Given the description of an element on the screen output the (x, y) to click on. 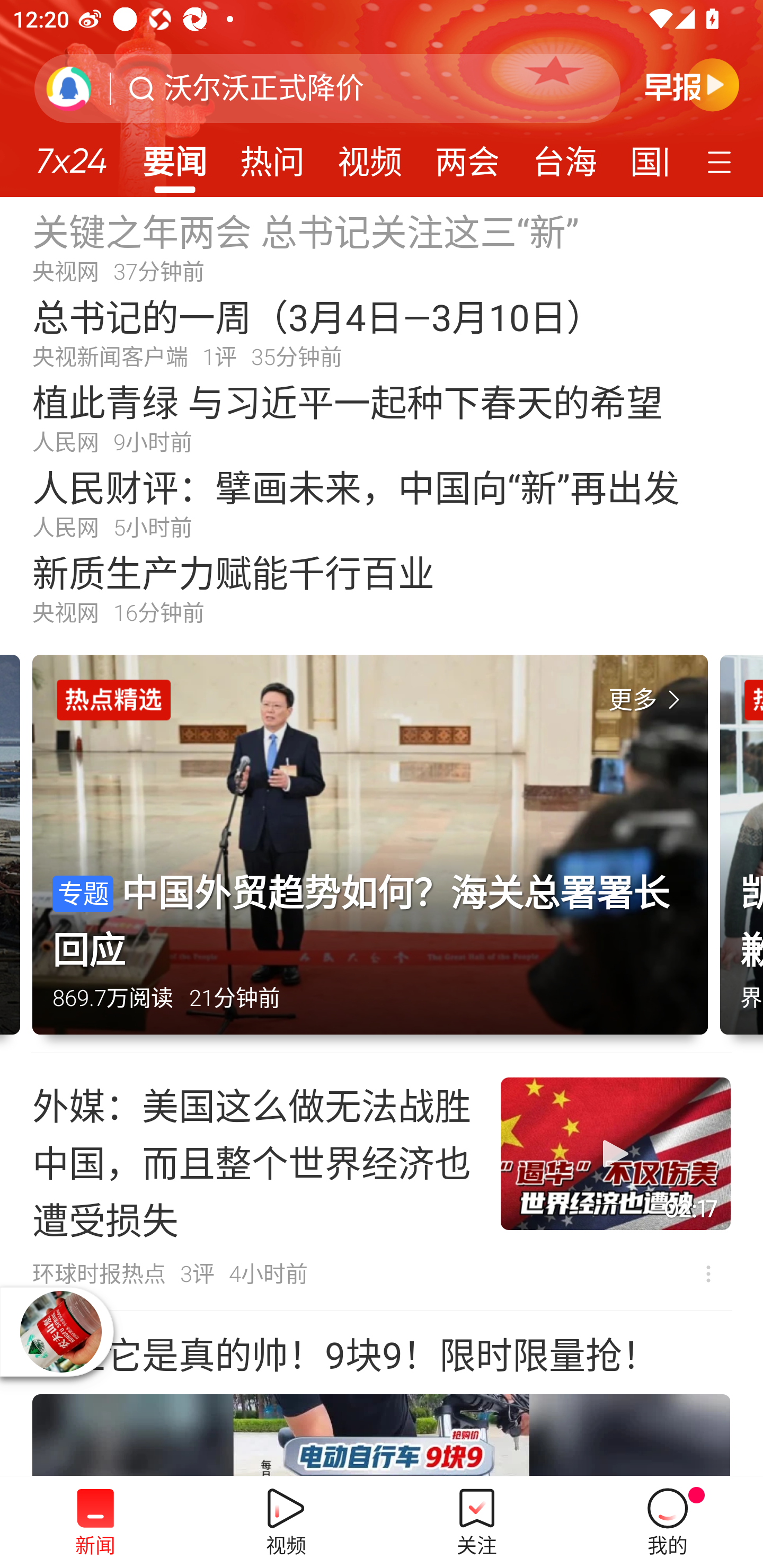
早晚报 (691, 84)
刷新 (68, 88)
沃尔沃正式降价 (263, 88)
7x24 (70, 154)
要闻 (174, 155)
热问 (272, 155)
视频 (369, 155)
两会 (466, 155)
台海 (564, 155)
 定制频道 (721, 160)
关键之年两会 总书记关注这三“新” 央视网 37分钟前 (381, 245)
总书记的一周（3月4日—3月10日） 央视新闻客户端 1评 35分钟前 (381, 331)
植此青绿 与习近平一起种下春天的希望 人民网 9小时前 (381, 416)
人民财评：擘画未来，中国向“新”再出发 人民网 5小时前 (381, 502)
新质生产力赋能千行百业 央视网 16分钟前 (381, 587)
更多  专题中国外贸趋势如何？海关总署署长回应 869.7万阅读   21分钟前 (376, 853)
更多  (648, 699)
 不感兴趣 (707, 1273)
播放器 (60, 1331)
